Given the description of an element on the screen output the (x, y) to click on. 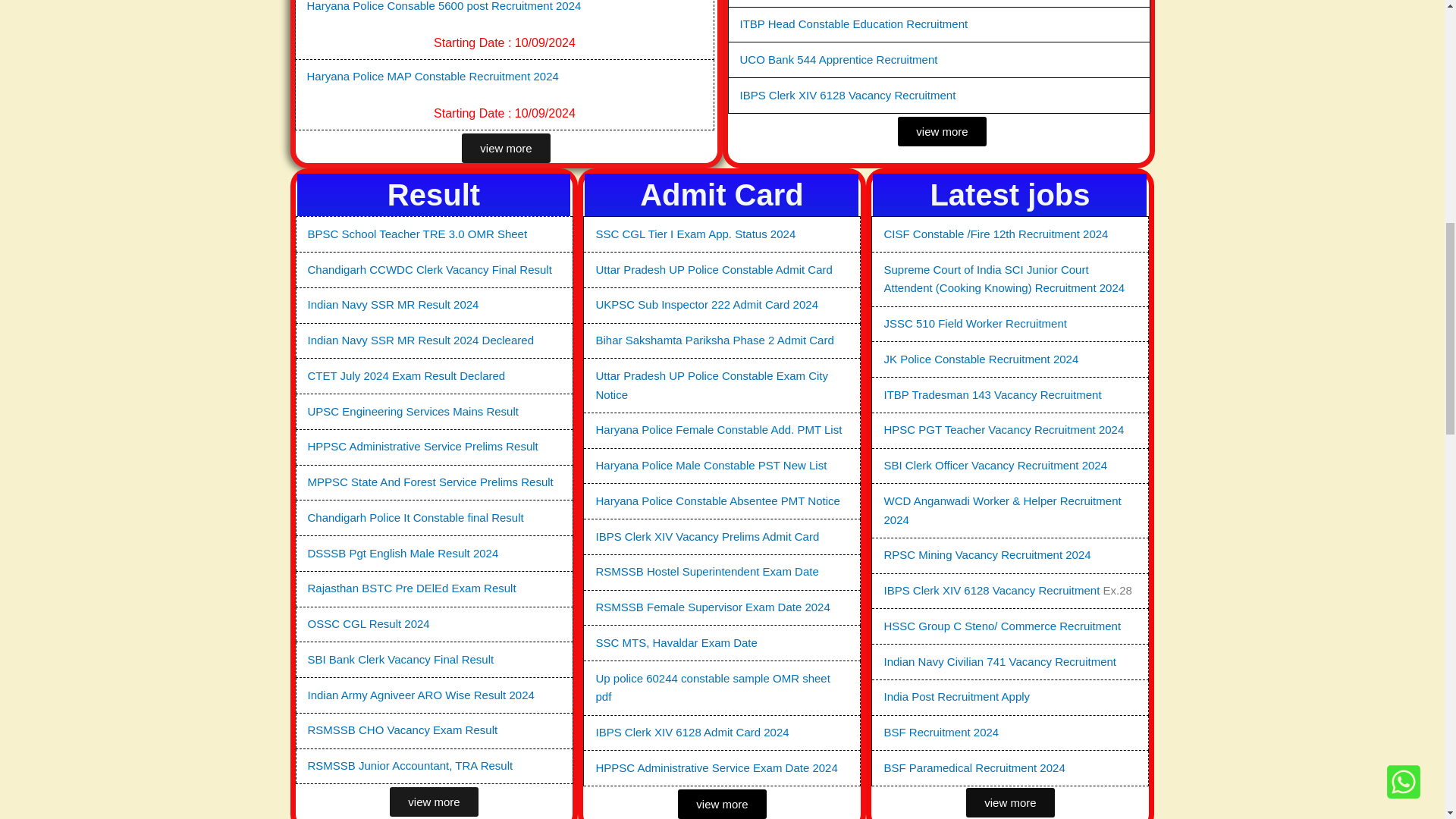
Haryana Police MAP Constable Recruitment 2024 (431, 75)
ITBP Head Constable Education Recruitment (853, 23)
view more (941, 131)
Haryana Police Consable 5600 post Recruitment 2024 (442, 6)
BPSC School Teacher TRE 3.0 OMR Sheet (417, 233)
IBPS Clerk XIV 6128 Vacancy Recruitment (847, 94)
view more (505, 147)
UCO Bank 544 Apprentice Recruitment (838, 59)
